Given the description of an element on the screen output the (x, y) to click on. 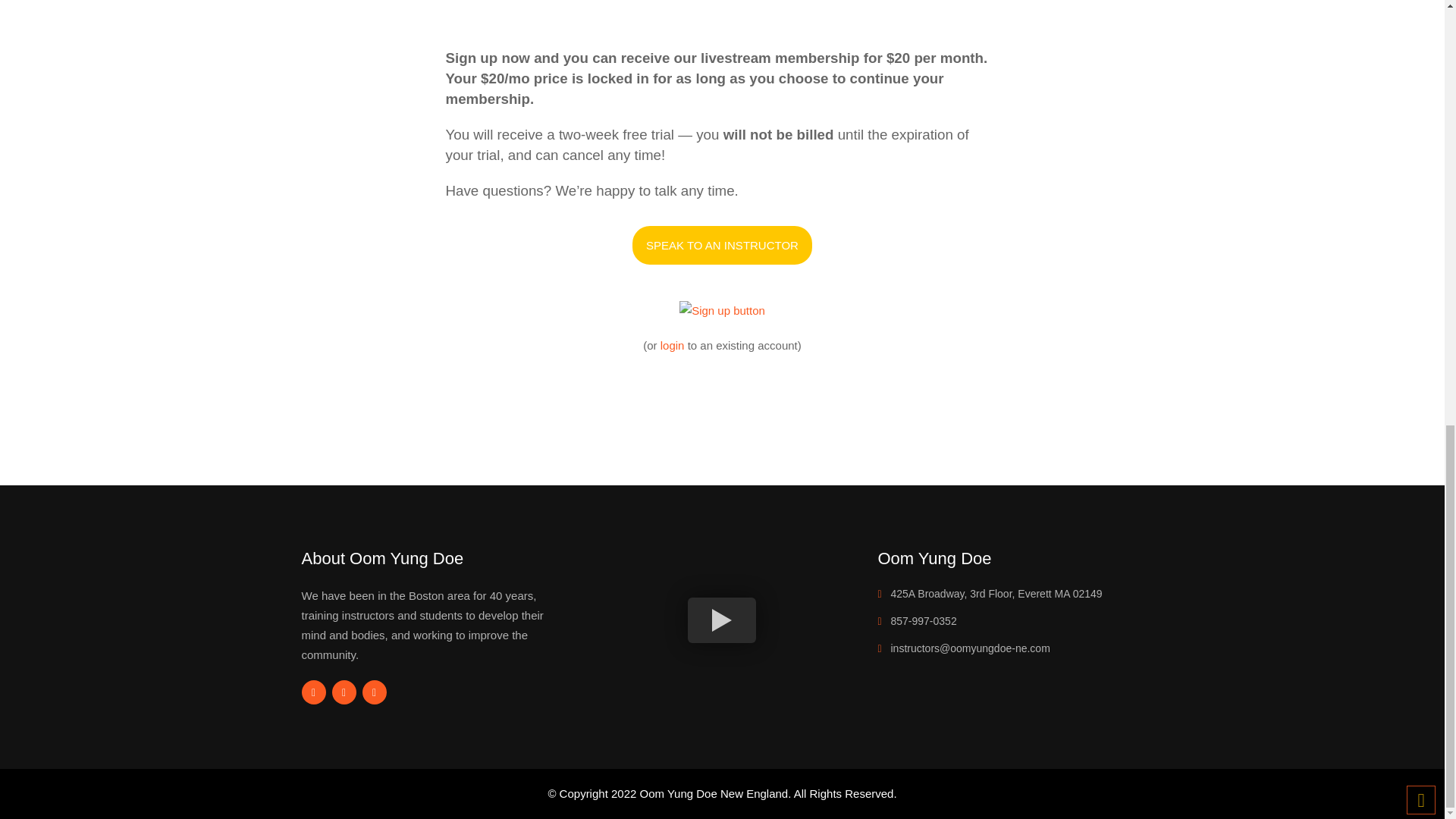
SPEAK TO AN INSTRUCTOR (721, 245)
login (672, 345)
857-997-0352 (922, 621)
